Given the description of an element on the screen output the (x, y) to click on. 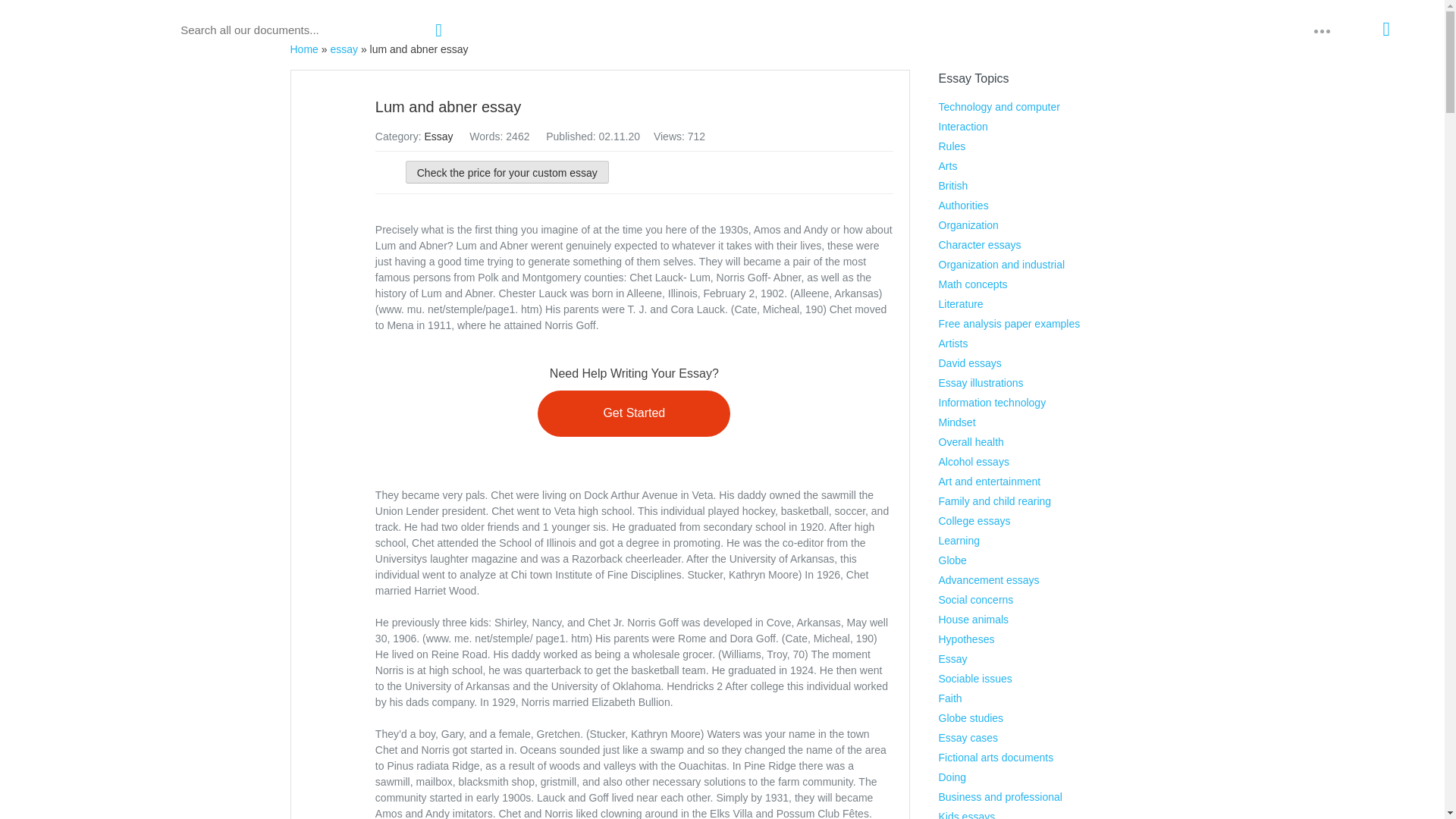
Home (303, 49)
essay (344, 49)
Privacy Policy (1243, 29)
Get Started (633, 413)
Check the price for your custom essay (507, 171)
Essay (437, 136)
Contact (1165, 29)
About Us (1100, 29)
